Given the description of an element on the screen output the (x, y) to click on. 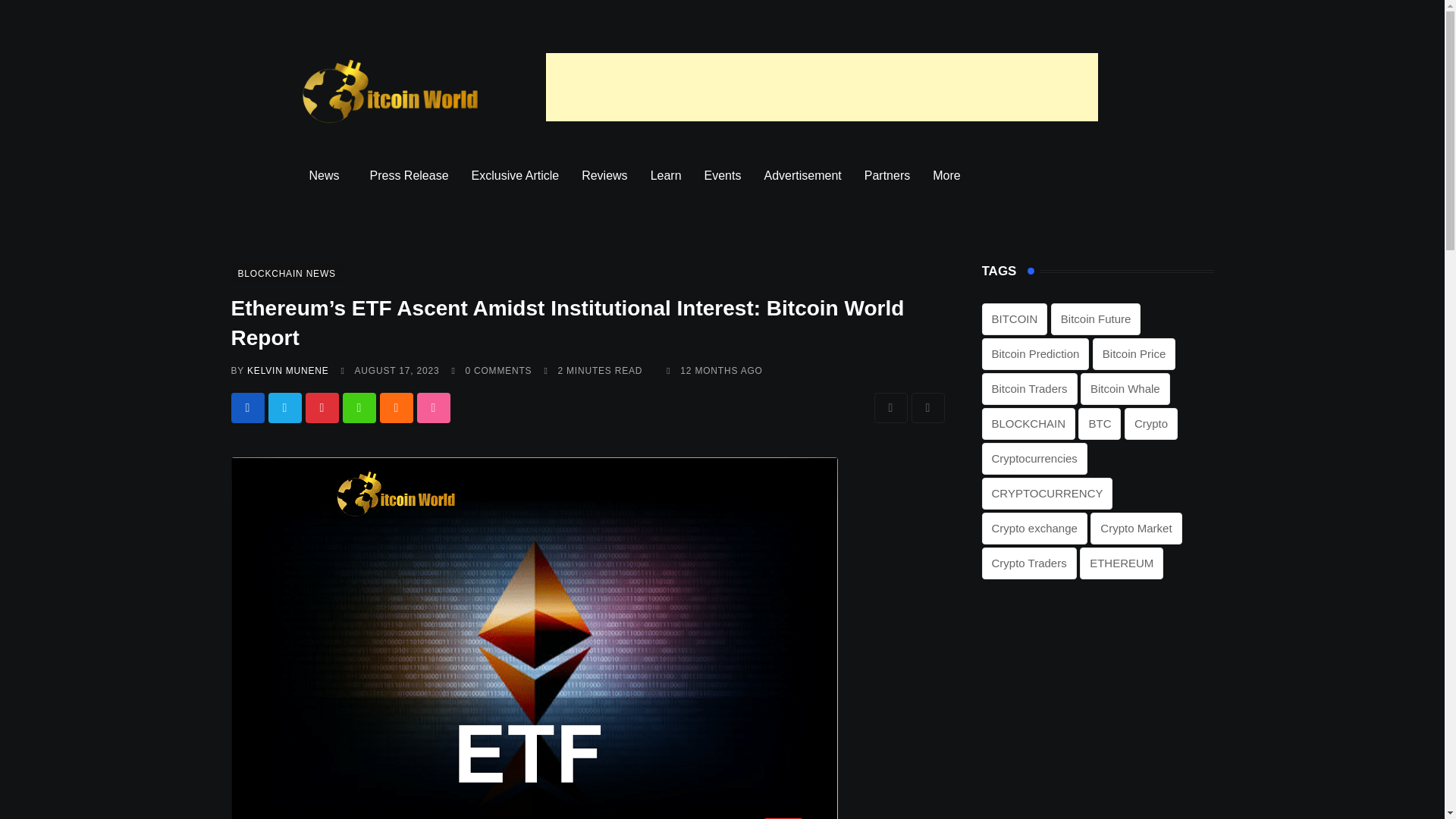
Exclusive Article (515, 175)
Reviews (604, 175)
Advertisement (801, 175)
Partners (887, 175)
More (949, 175)
Press Release (409, 175)
KELVIN MUNENE (288, 370)
Posts by Kelvin Munene (288, 370)
News (327, 175)
BLOCKCHAIN NEWS (286, 272)
